Given the description of an element on the screen output the (x, y) to click on. 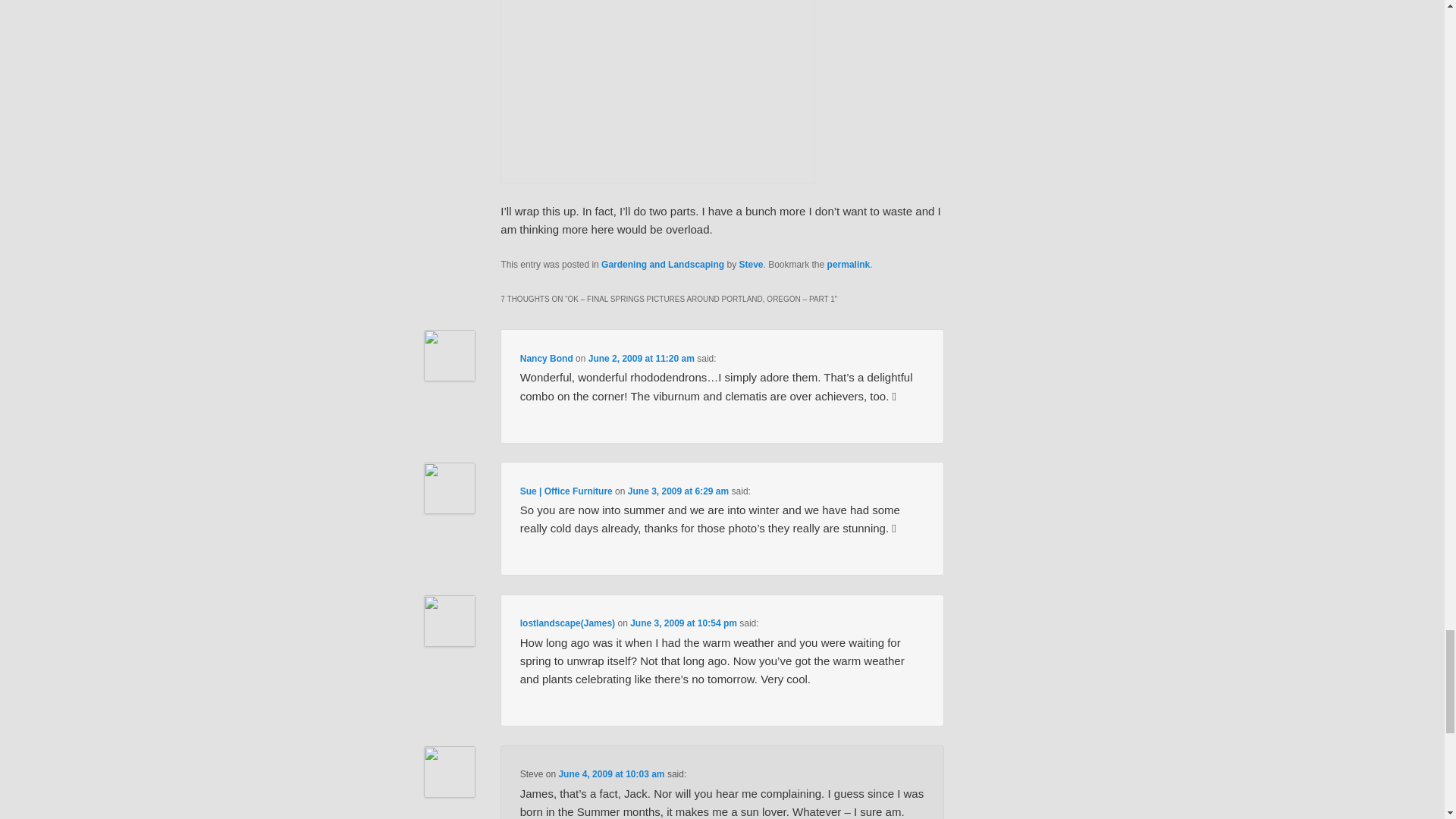
June 3, 2009 at 10:54 pm (683, 623)
June 2, 2009 at 11:20 am (641, 357)
Steve (750, 264)
Nancy Bond (546, 357)
permalink (848, 264)
June 3, 2009 at 6:29 am (678, 490)
Gardening and Landscaping (662, 264)
June 4, 2009 at 10:03 am (610, 774)
crystal-springs-march-3-09-129 (656, 92)
